Given the description of an element on the screen output the (x, y) to click on. 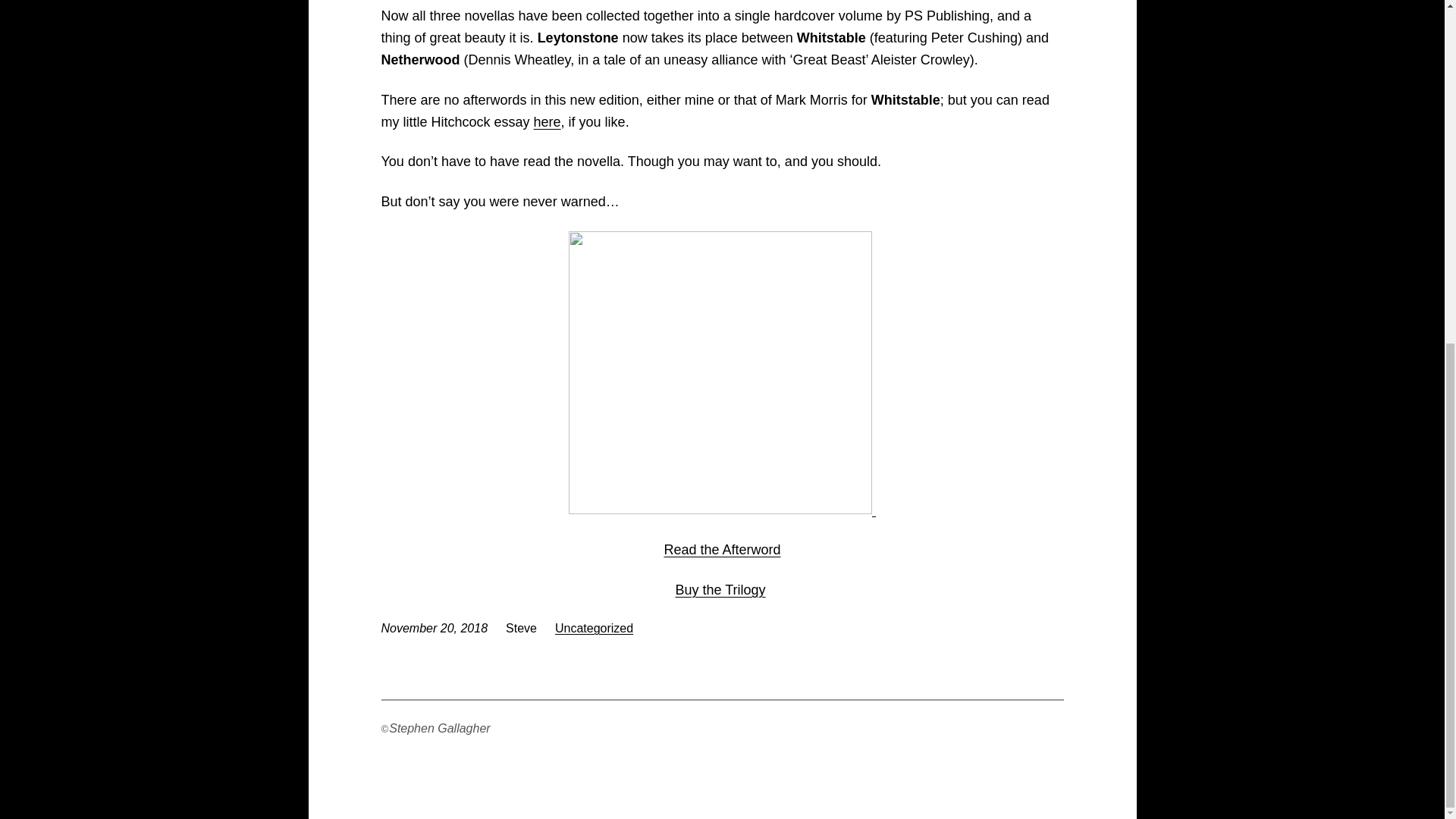
Buy the Trilogy (720, 589)
Uncategorized (593, 627)
here (547, 121)
Read the Afterword (721, 549)
